Given the description of an element on the screen output the (x, y) to click on. 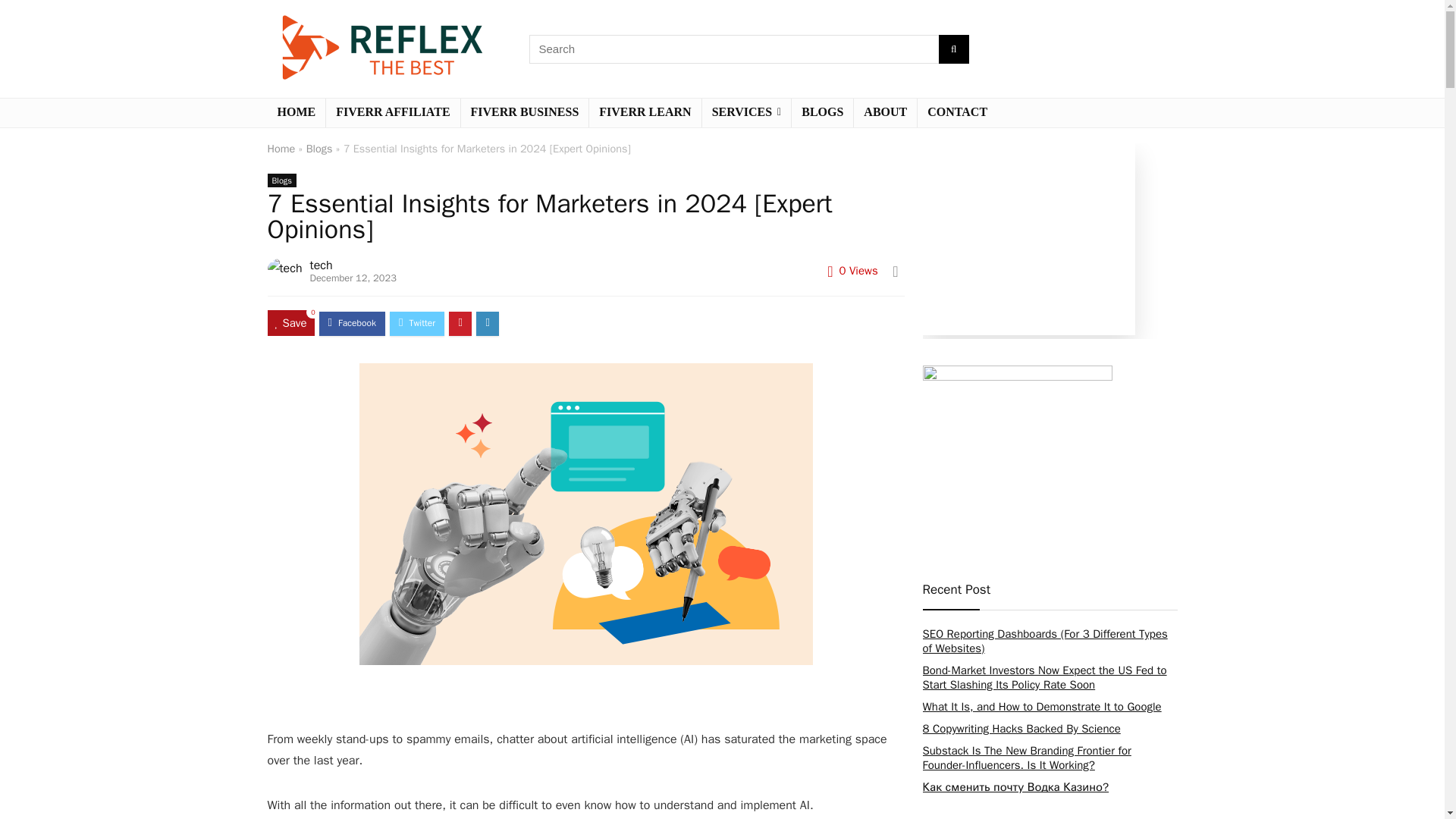
FIVERR LEARN (644, 112)
View all posts in Blogs (281, 180)
Blogs (319, 148)
FIVERR AFFILIATE (393, 112)
Home (280, 148)
BLOGS (822, 112)
tech (321, 264)
SERVICES (746, 112)
CONTACT (957, 112)
Blogs (281, 180)
